Given the description of an element on the screen output the (x, y) to click on. 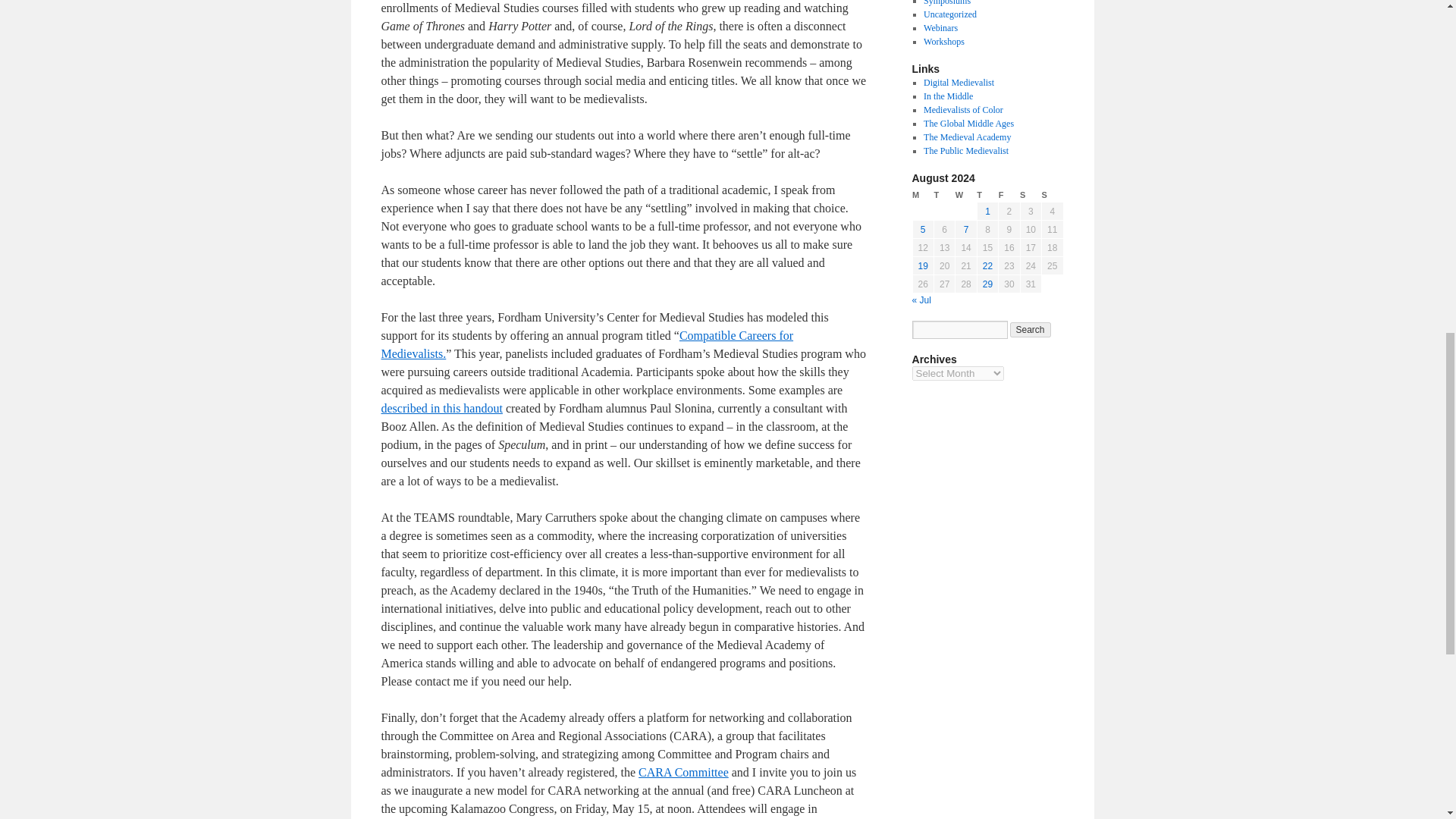
Tuesday (944, 195)
Monday (922, 195)
CARA Committee (684, 771)
Thursday (986, 195)
Search (1030, 329)
Compatible Careers for Medievalists. (586, 344)
Wednesday (965, 195)
described in this handout (441, 408)
